Given the description of an element on the screen output the (x, y) to click on. 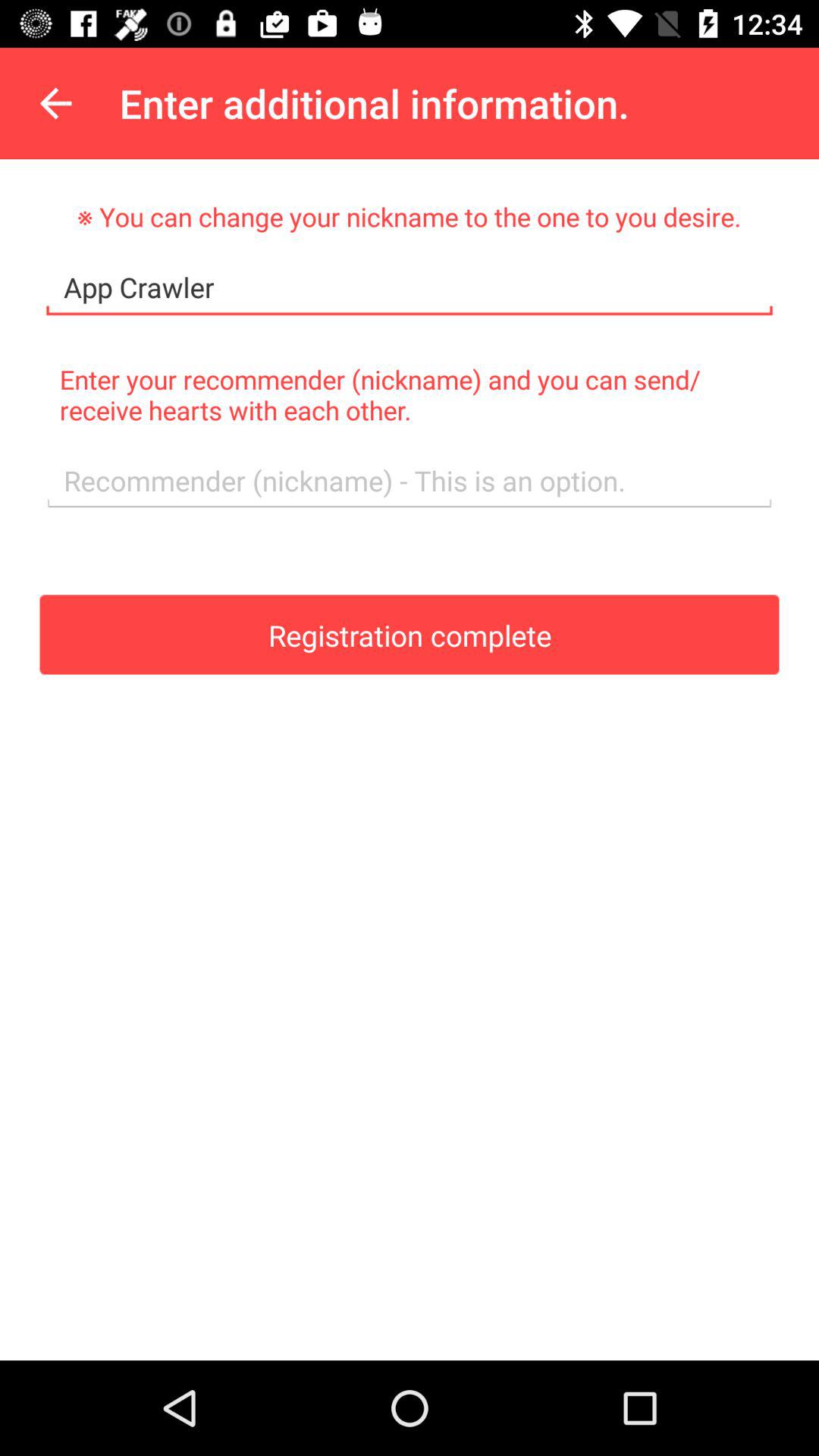
open icon above enter your recommender (409, 287)
